Given the description of an element on the screen output the (x, y) to click on. 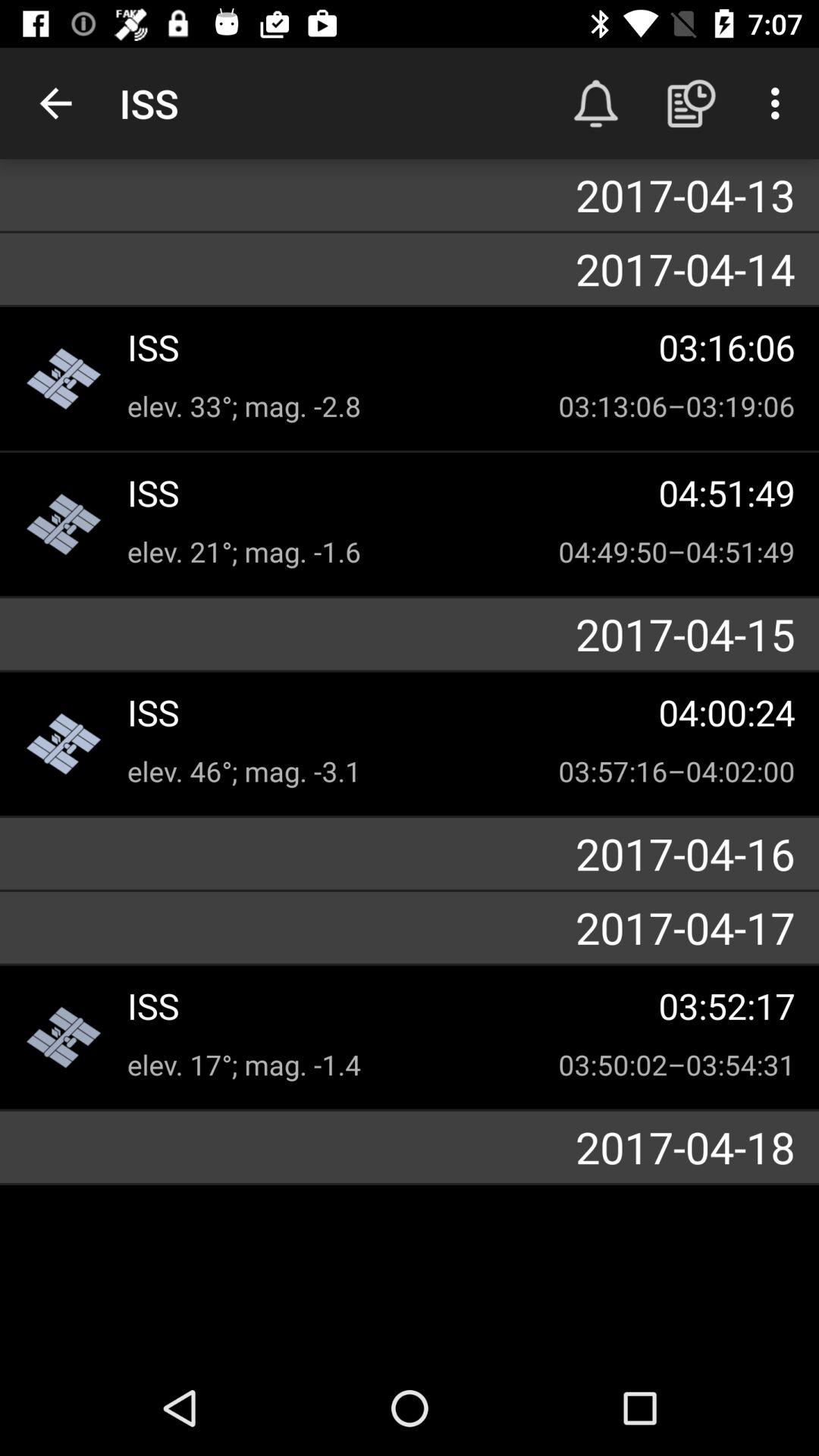
launch the app to the right of iss app (595, 103)
